Given the description of an element on the screen output the (x, y) to click on. 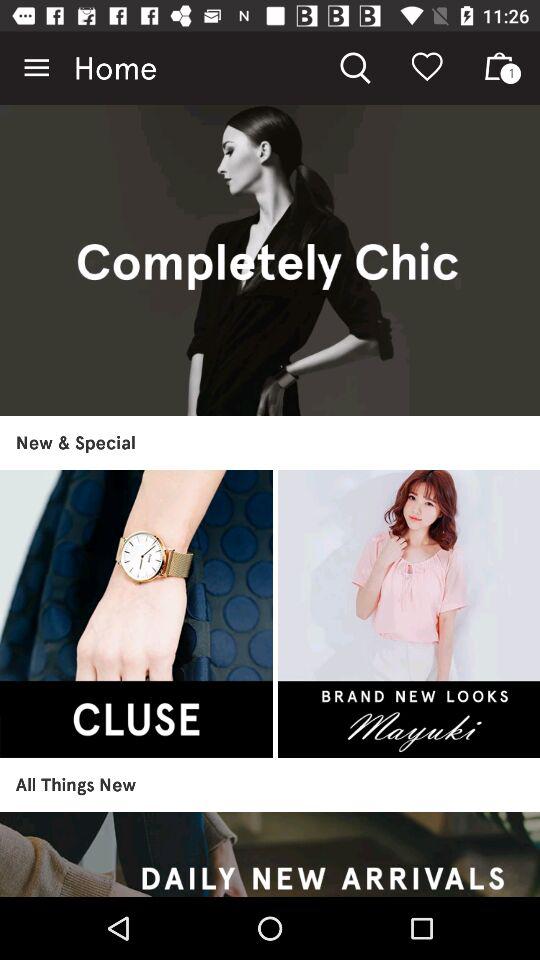
select icon to the left of home (36, 68)
